Given the description of an element on the screen output the (x, y) to click on. 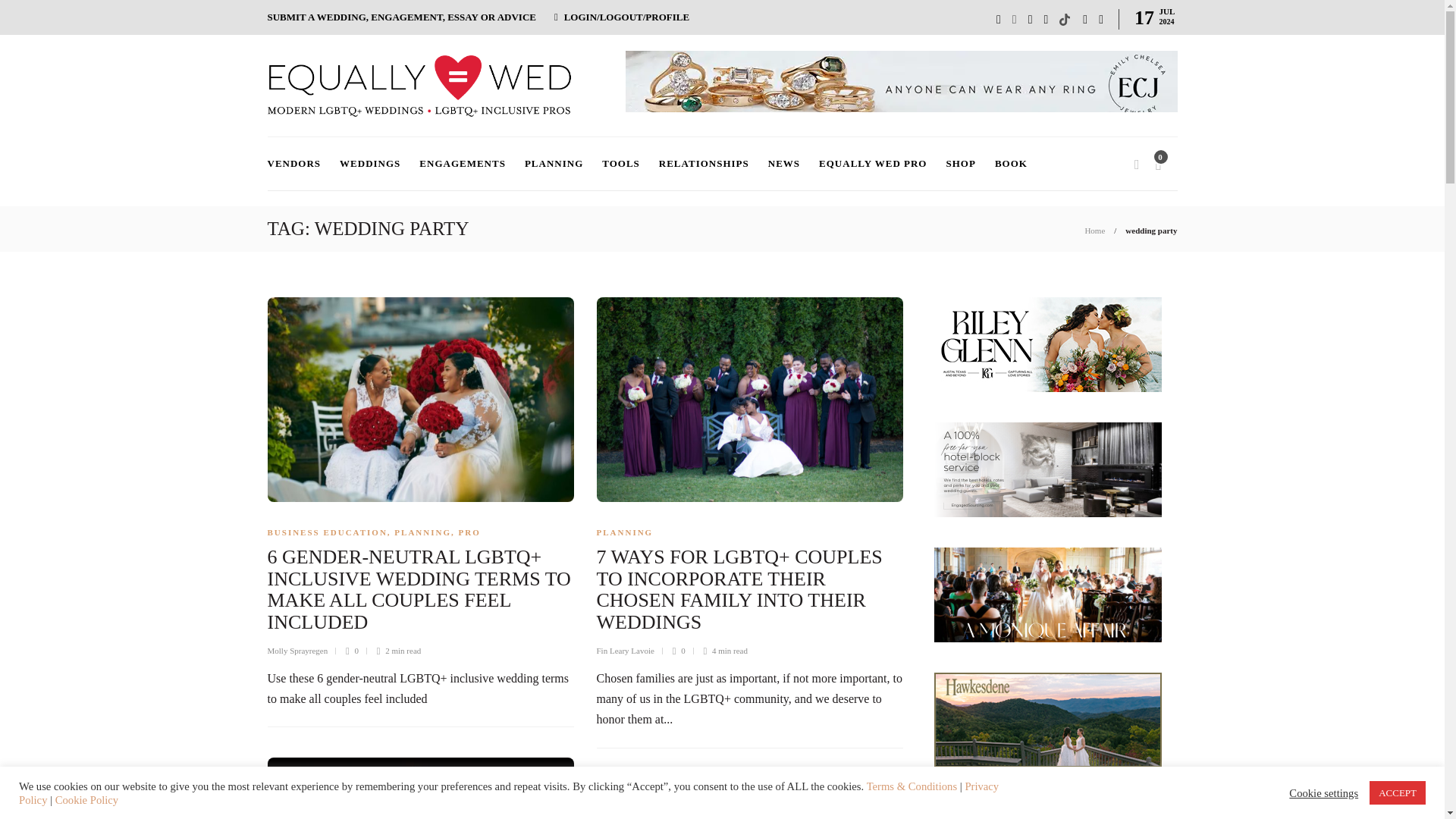
Home (1094, 230)
